Given the description of an element on the screen output the (x, y) to click on. 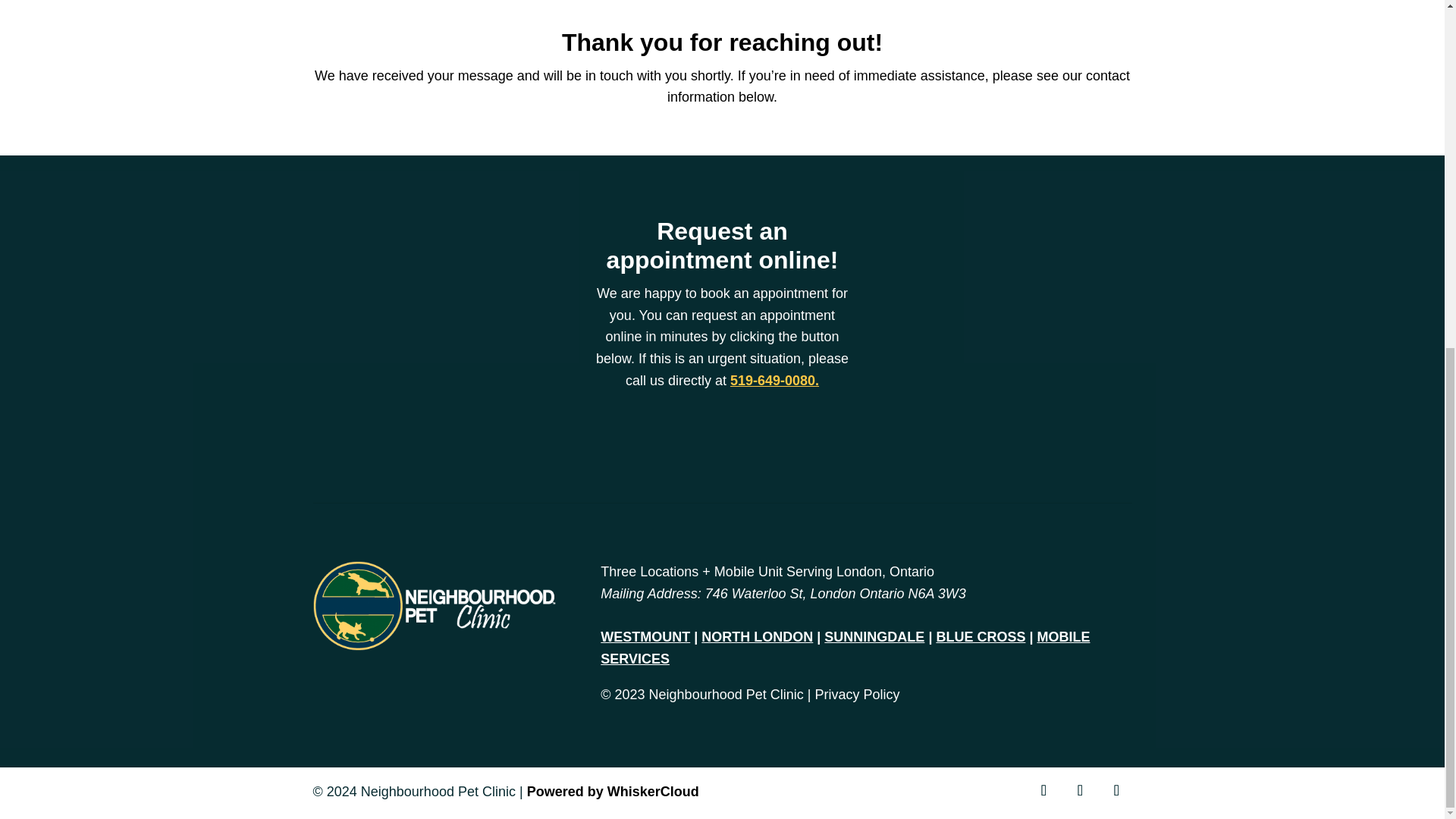
logo-new-white-1 (433, 605)
Follow on Facebook (1042, 789)
Follow on Instagram (1079, 789)
Follow on LinkedIn (1115, 789)
